Given the description of an element on the screen output the (x, y) to click on. 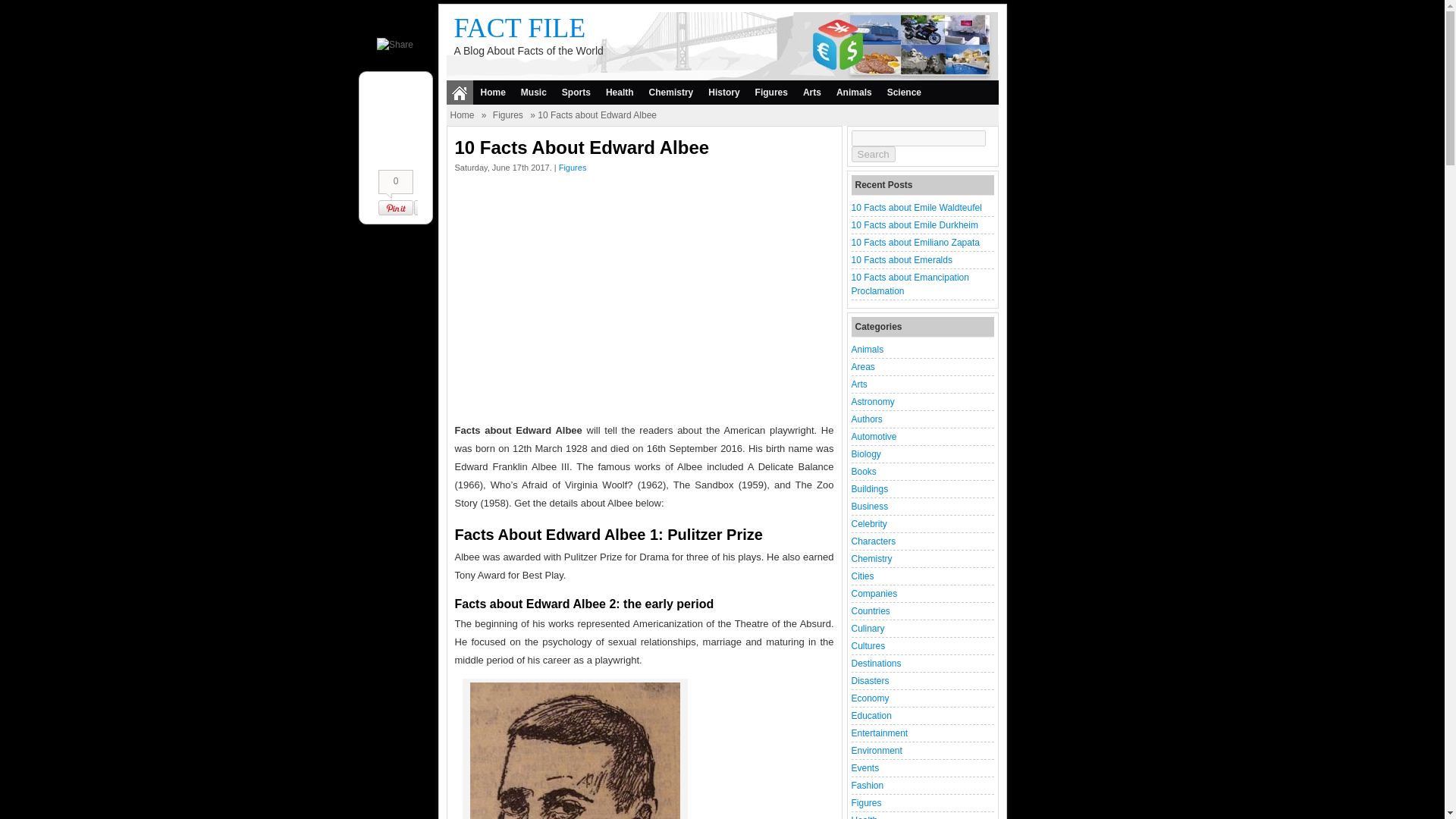
10 Facts about Emancipation Proclamation (909, 283)
Pin It on Pinterest (396, 207)
Chemistry (671, 92)
10 Facts about Emeralds (901, 259)
Search (872, 154)
10 Facts about Emile Waldteufel (915, 207)
Science (903, 92)
History (723, 92)
Areas (862, 366)
Sports (576, 92)
10 Facts about Emiliano Zapata (914, 242)
Advertisement (644, 301)
Search (872, 154)
Automotive (873, 436)
Home (493, 92)
